Given the description of an element on the screen output the (x, y) to click on. 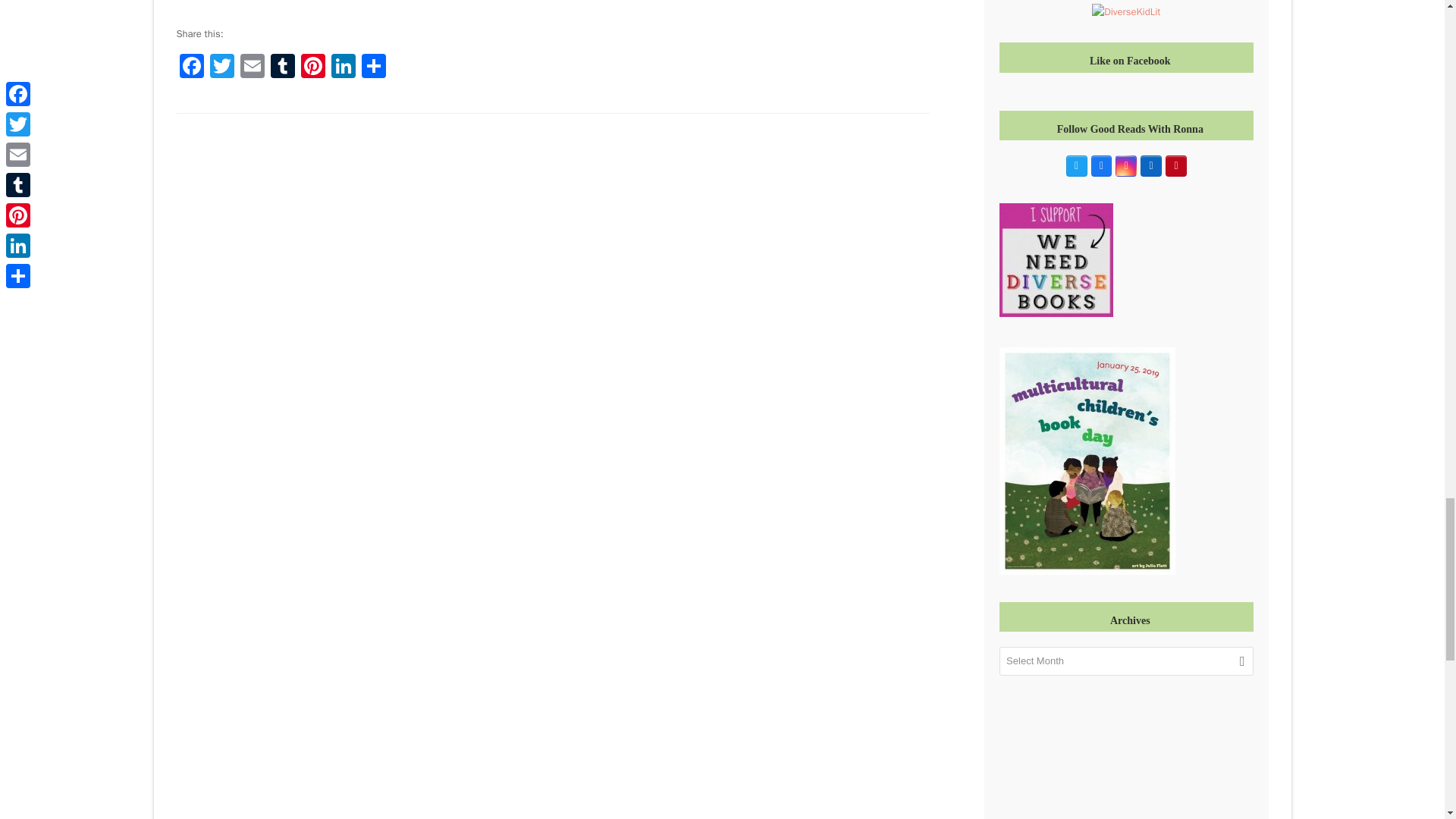
Pinterest (312, 68)
Facebook (191, 68)
Twitter (220, 68)
LinkedIn (1150, 165)
Instagram (1126, 165)
LinkedIn (342, 68)
Tumblr (281, 68)
Tumblr (281, 68)
LinkedIn (342, 68)
Twitter (1076, 165)
